Given the description of an element on the screen output the (x, y) to click on. 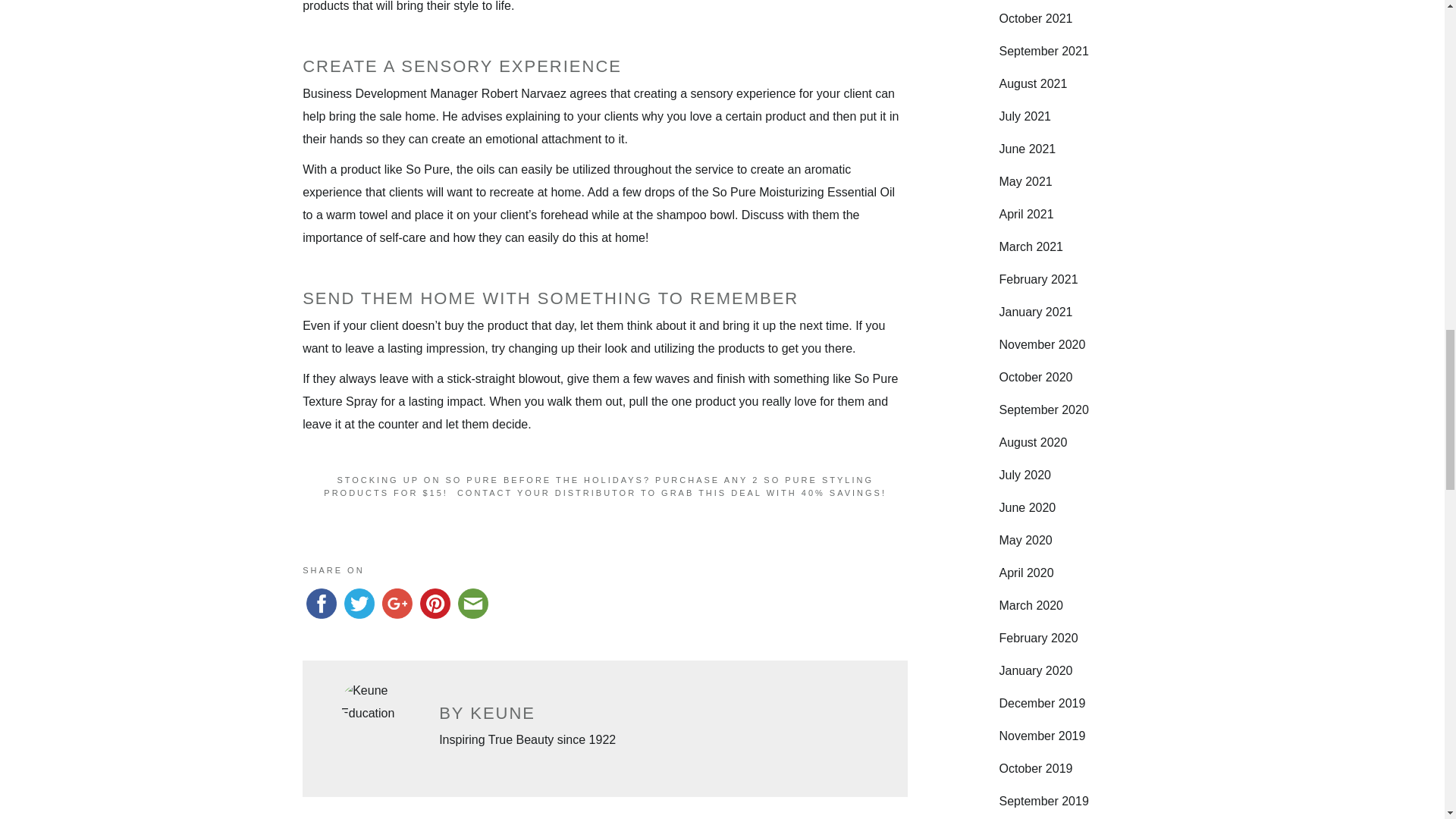
twitter (359, 603)
So Pure Moisturizing Essential Oil (803, 192)
facebook (321, 603)
Business Development Manager Robert Narvaez (434, 92)
